Given the description of an element on the screen output the (x, y) to click on. 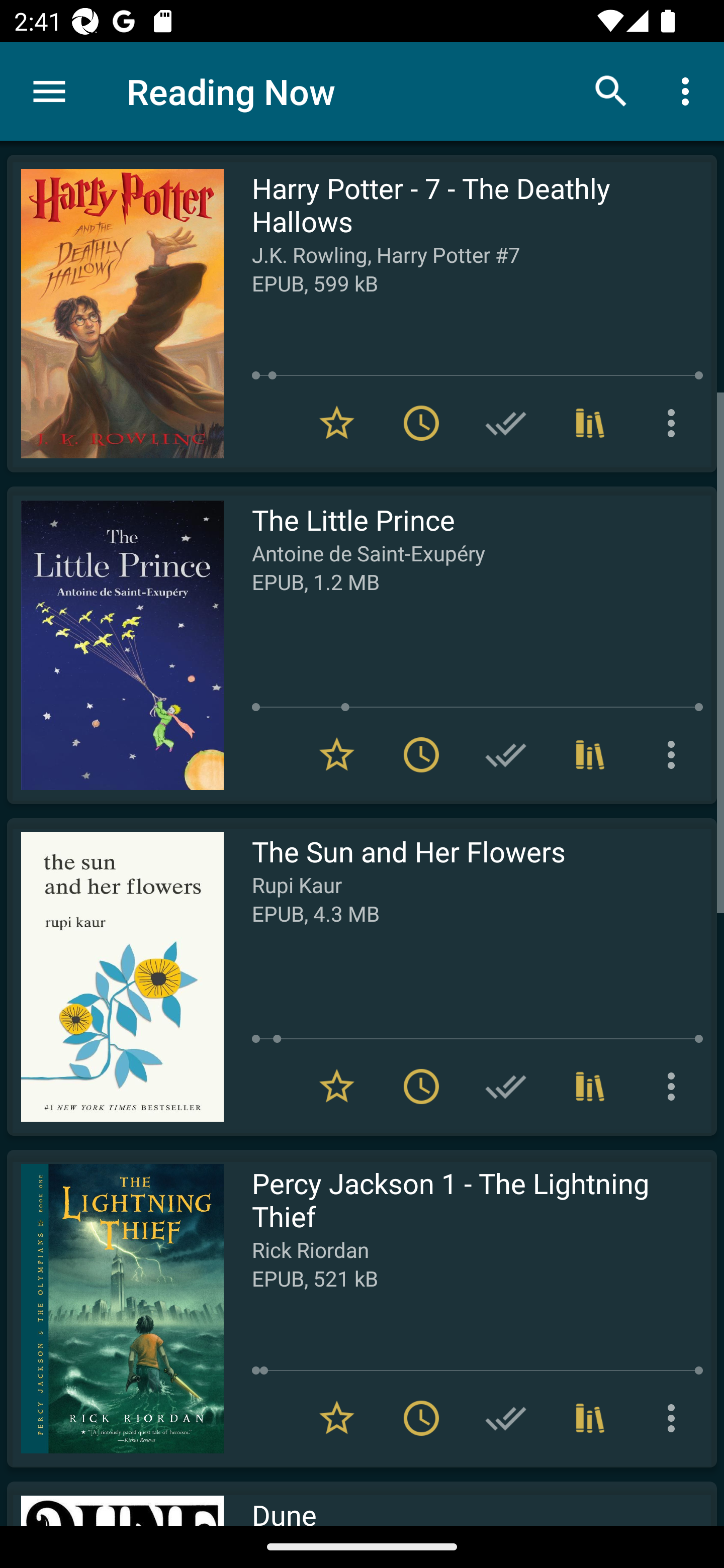
Menu (49, 91)
Search books & documents (611, 90)
More options (688, 90)
Read Harry Potter - 7 - The Deathly Hallows (115, 313)
Remove from Favorites (336, 423)
Remove from To read (421, 423)
Add to Have read (505, 423)
Collections (3) (590, 423)
More options (674, 423)
Read The Little Prince (115, 645)
Remove from Favorites (336, 753)
Remove from To read (421, 753)
Add to Have read (505, 753)
Collections (1) (590, 753)
More options (674, 753)
Read The Sun and Her Flowers (115, 976)
Remove from Favorites (336, 1086)
Remove from To read (421, 1086)
Add to Have read (505, 1086)
Collections (1) (590, 1086)
More options (674, 1086)
Read Percy Jackson 1 - The Lightning Thief (115, 1308)
Remove from Favorites (336, 1417)
Remove from To read (421, 1417)
Add to Have read (505, 1417)
Collections (1) (590, 1417)
More options (674, 1417)
